Given the description of an element on the screen output the (x, y) to click on. 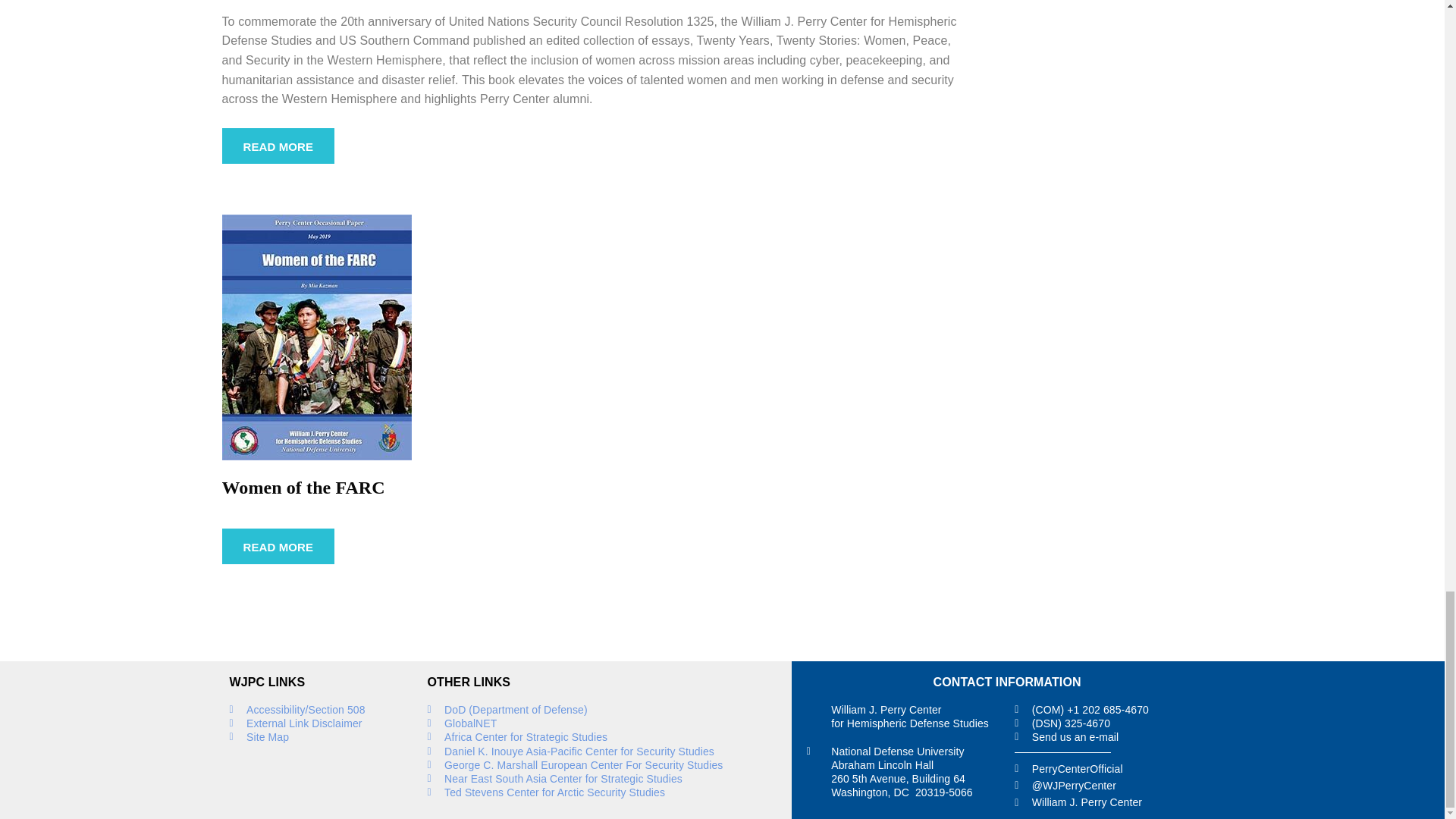
Women of the FARC (315, 336)
